Given the description of an element on the screen output the (x, y) to click on. 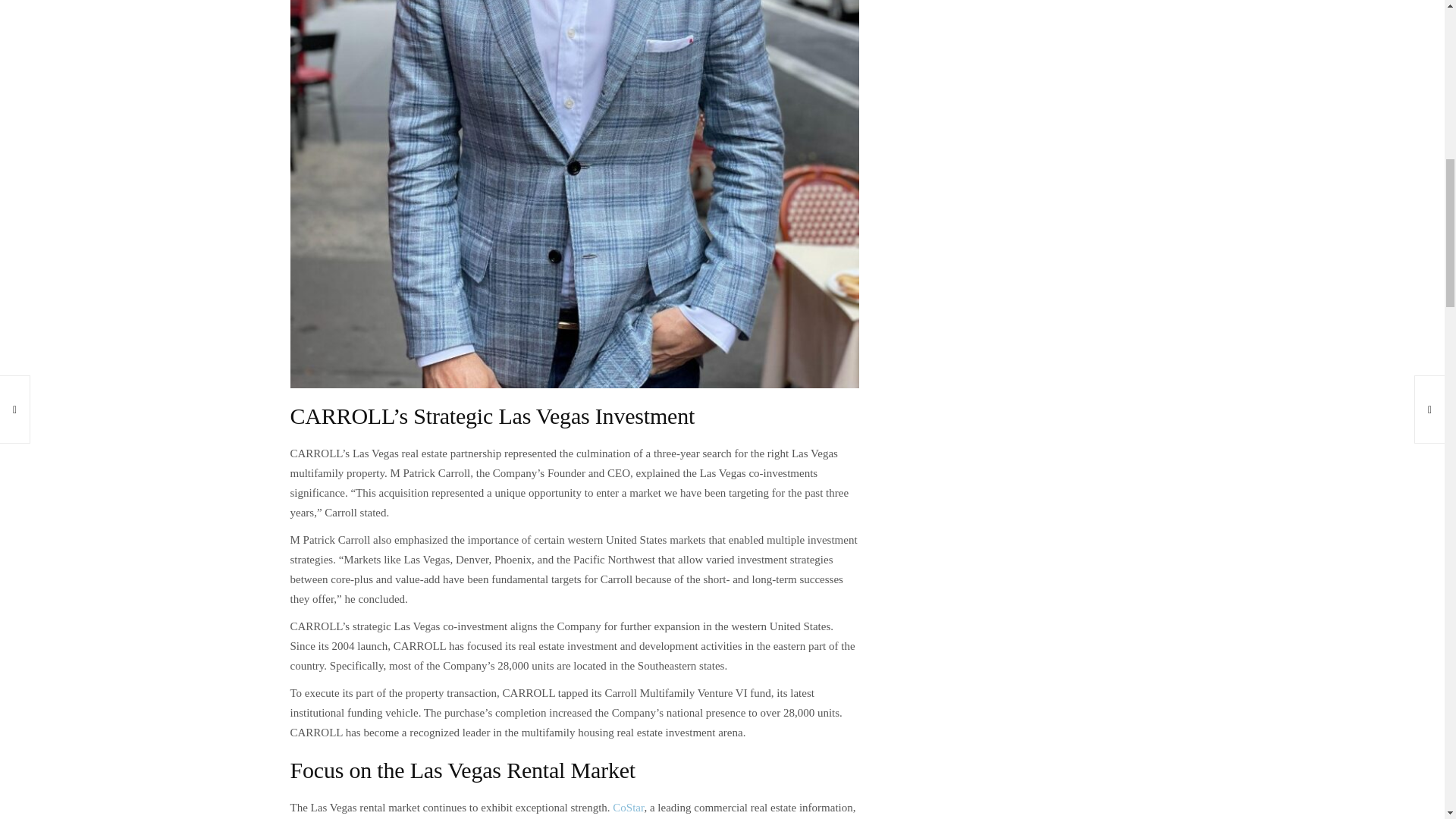
CoStar (627, 807)
